Given the description of an element on the screen output the (x, y) to click on. 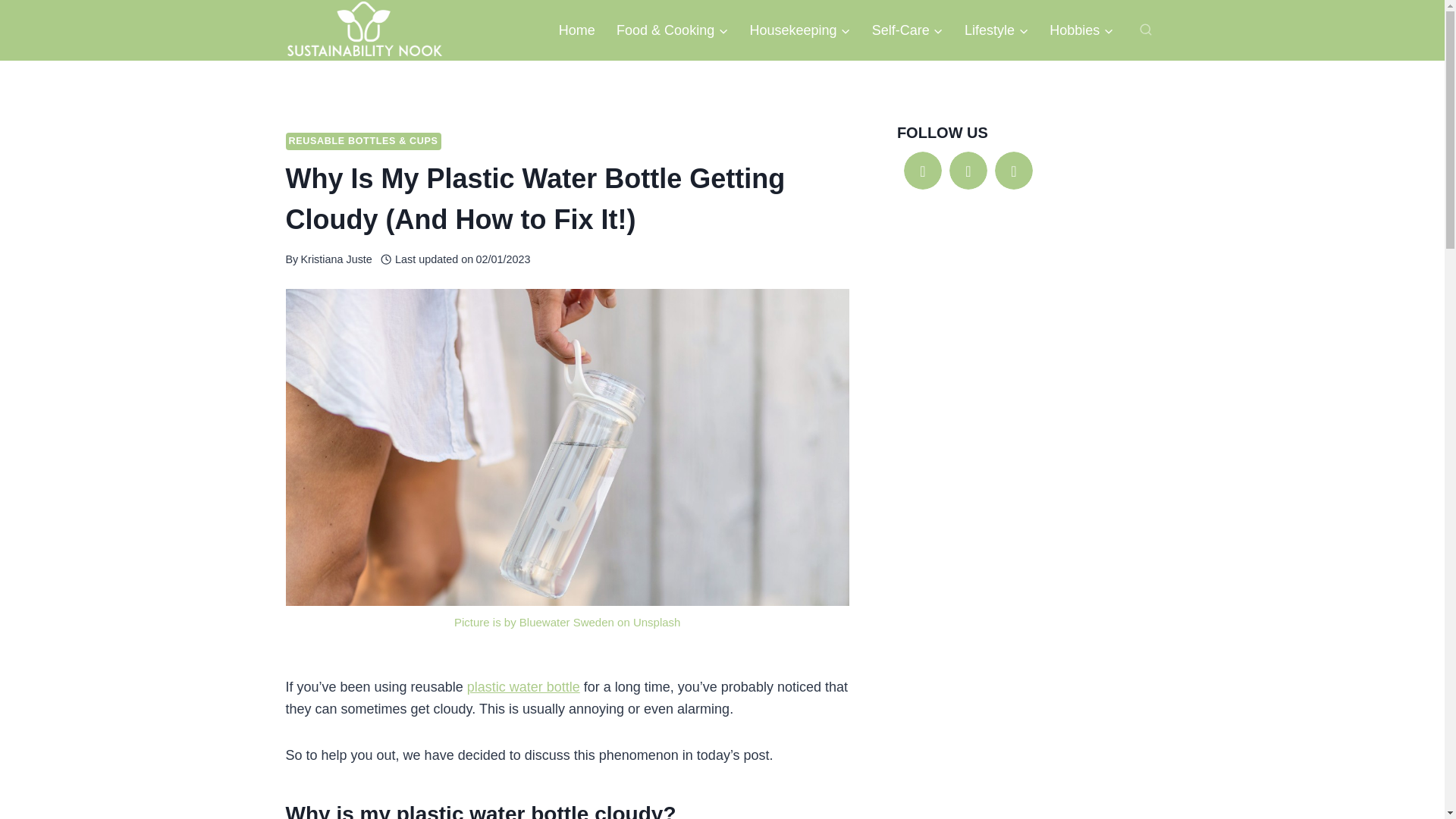
Self-Care (907, 30)
Home (576, 30)
Housekeeping (799, 30)
Lifestyle (996, 30)
Hobbies (1081, 30)
